Given the description of an element on the screen output the (x, y) to click on. 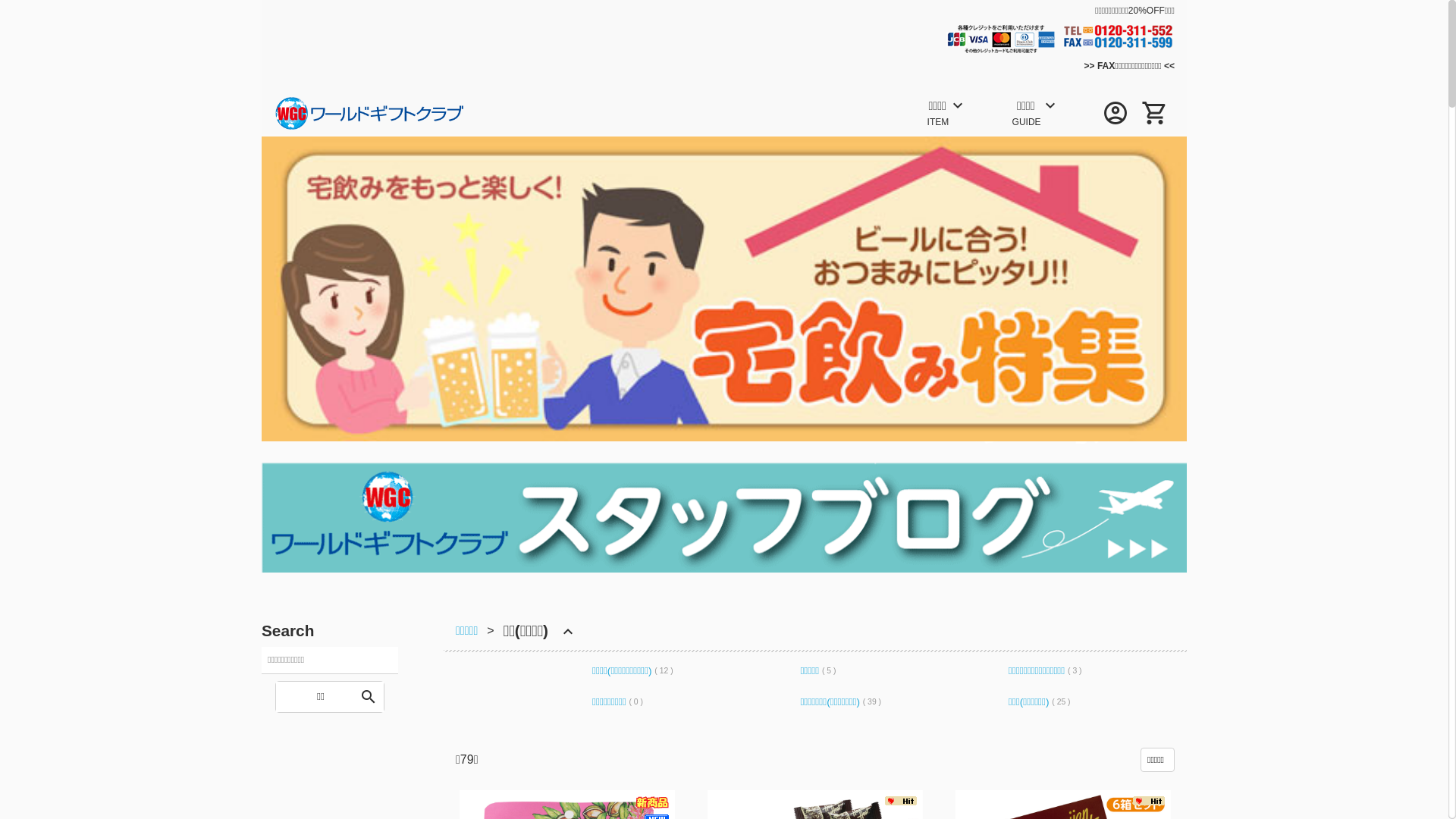
shopping_cart Element type: text (1154, 111)
